Given the description of an element on the screen output the (x, y) to click on. 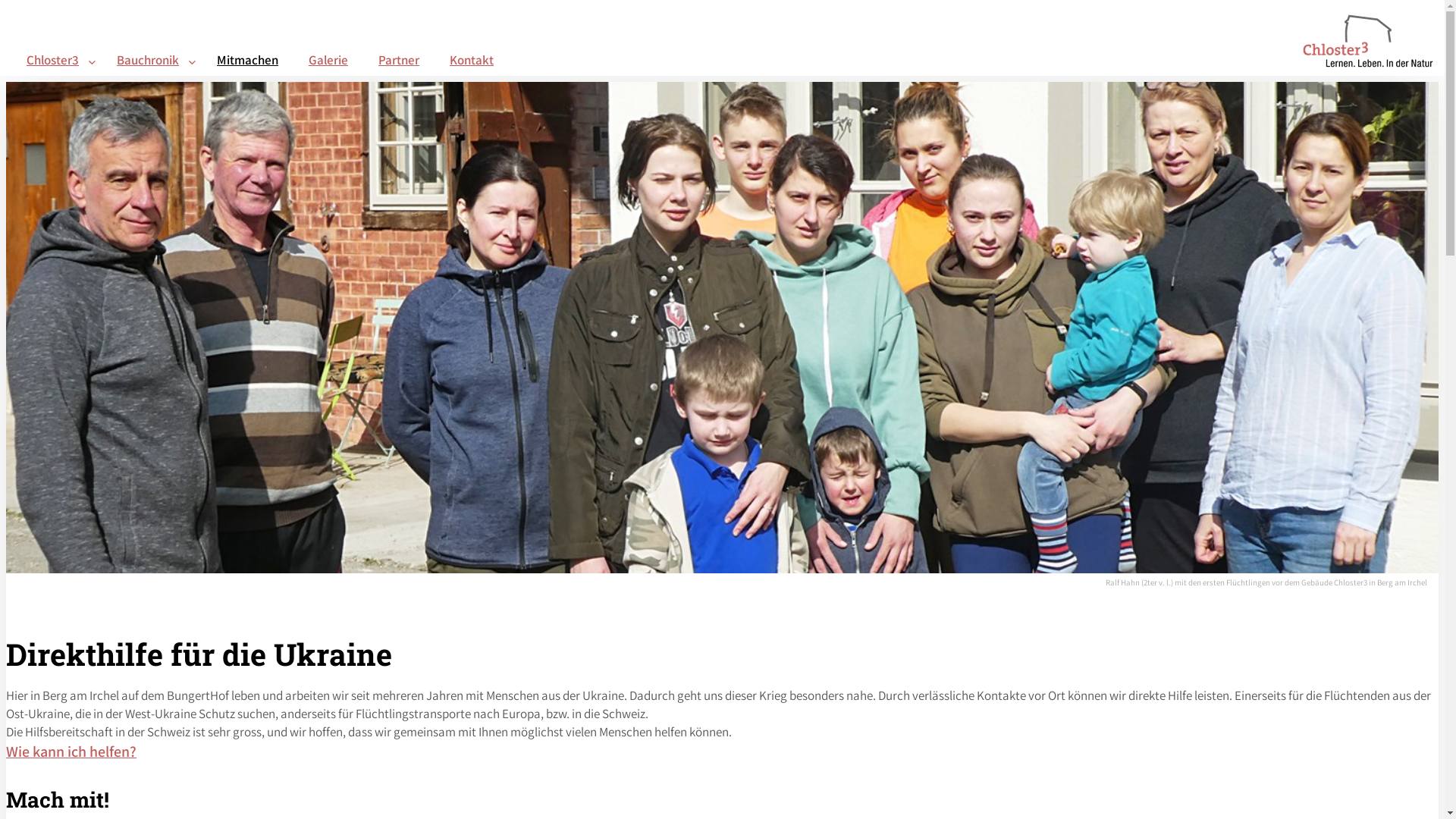
Wie kann ich helfen? Element type: text (71, 751)
Mitmachen Element type: text (247, 79)
Bauchronik Element type: text (151, 79)
Chloster3 Element type: text (56, 79)
Galerie Element type: text (328, 79)
Chloster3 Element type: text (1367, 40)
Partner Element type: text (398, 79)
Kontakt Element type: text (471, 79)
Skip to the content Element type: text (722, 12)
